Given the description of an element on the screen output the (x, y) to click on. 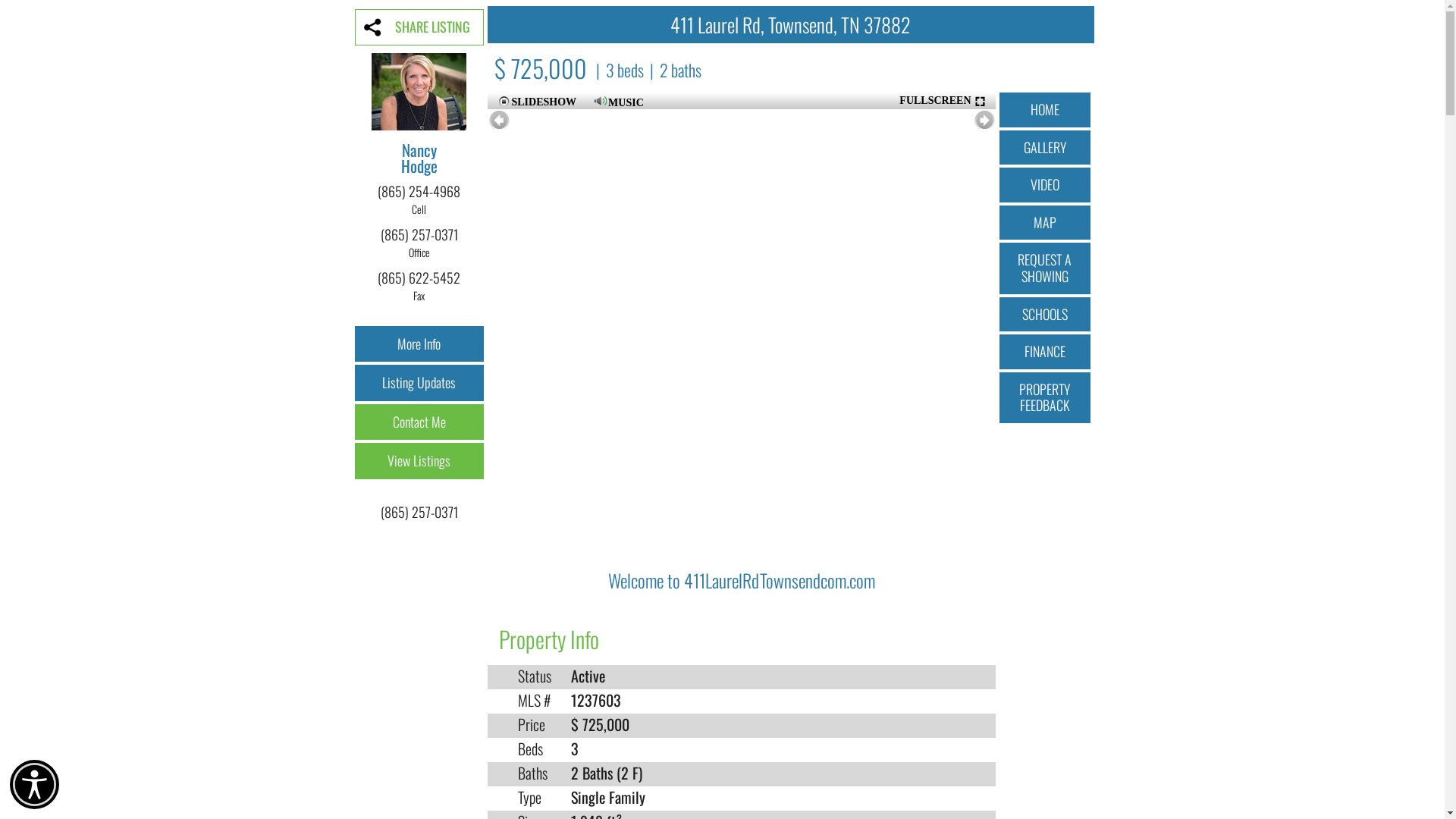
GALLERY Element type: text (1044, 147)
PROPERTY FEEDBACK Element type: text (1044, 397)
SCHOOLS Element type: text (1044, 314)
More Info Element type: text (418, 344)
FINANCE Element type: text (1044, 351)
Listing Updates Element type: text (418, 382)
View Listings Element type: text (418, 460)
Contact Me Element type: text (418, 422)
VIDEO Element type: text (1044, 184)
HOME Element type: text (1044, 109)
SHARE LISTING Element type: text (418, 27)
REQUEST A SHOWING Element type: text (1044, 267)
MAP Element type: text (1044, 222)
